Given the description of an element on the screen output the (x, y) to click on. 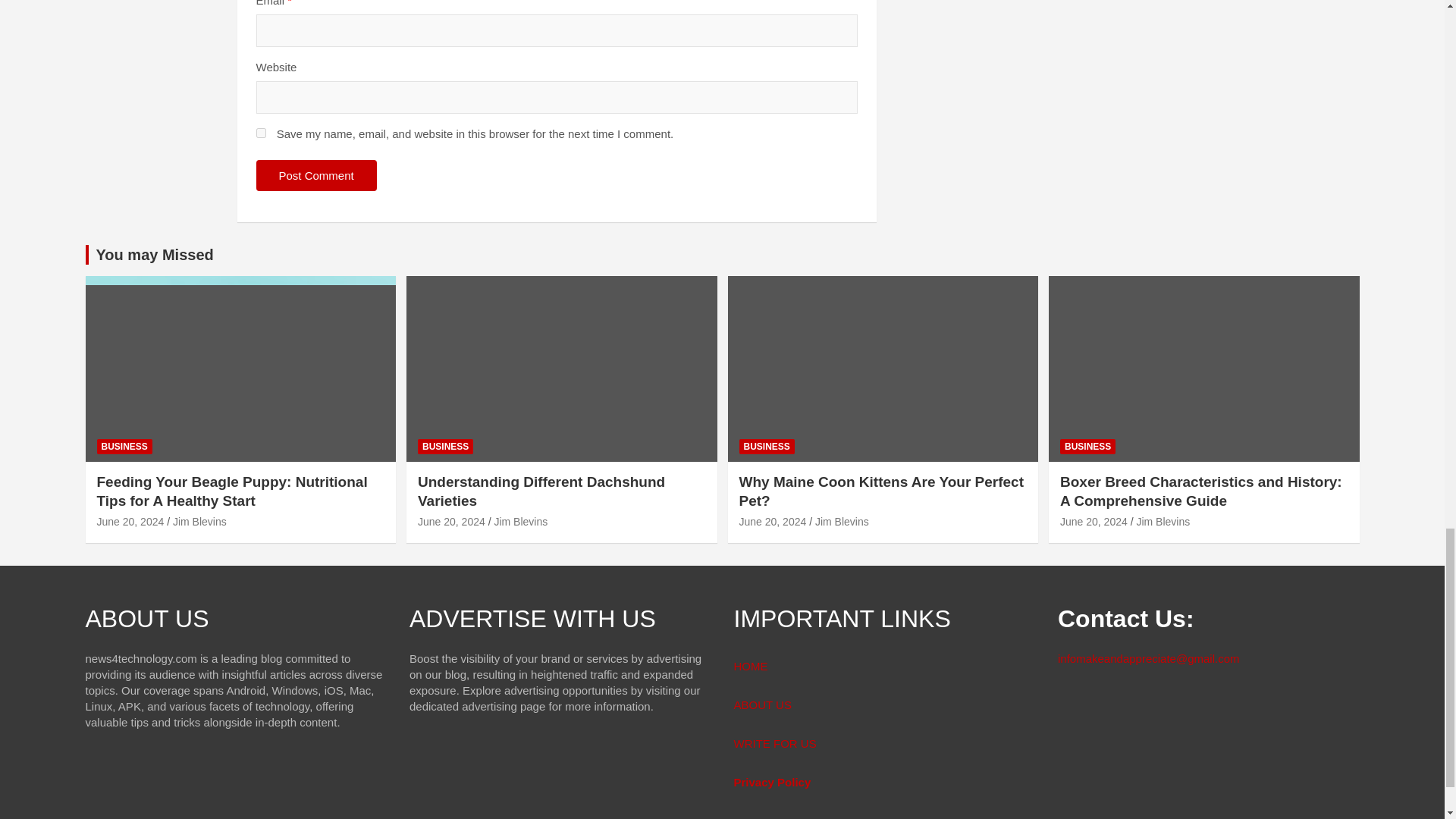
Post Comment (316, 174)
yes (261, 132)
Post Comment (316, 174)
Understanding Different Dachshund Varieties (450, 521)
Why Maine Coon Kittens Are Your Perfect Pet? (772, 521)
